Given the description of an element on the screen output the (x, y) to click on. 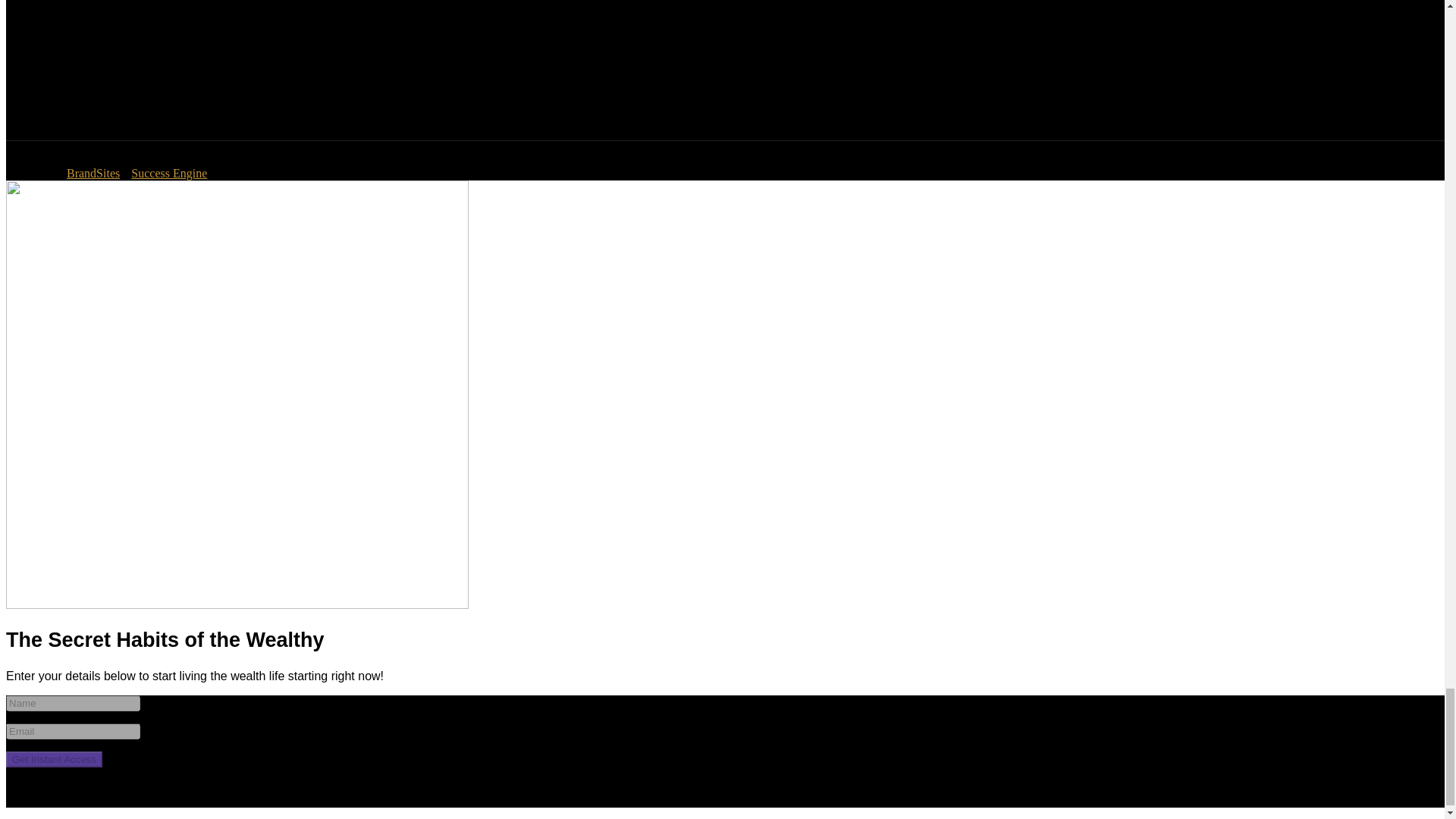
BrandSites (92, 173)
Get Instant Access (53, 759)
Success Engine (168, 173)
